Given the description of an element on the screen output the (x, y) to click on. 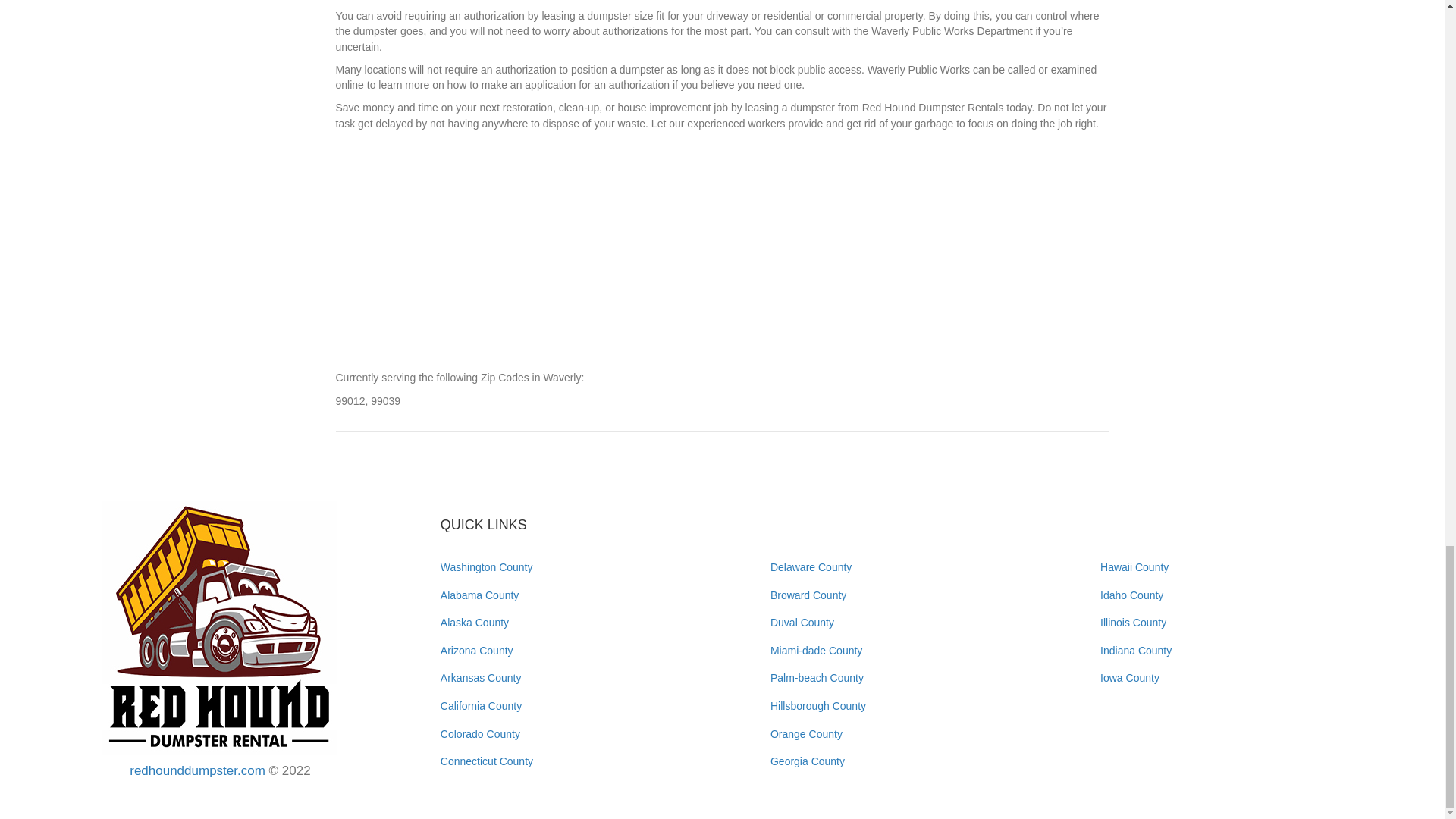
Alabama County (480, 594)
redhounddumpster (219, 627)
redhounddumpster.com (196, 770)
Washington County (486, 567)
